Given the description of an element on the screen output the (x, y) to click on. 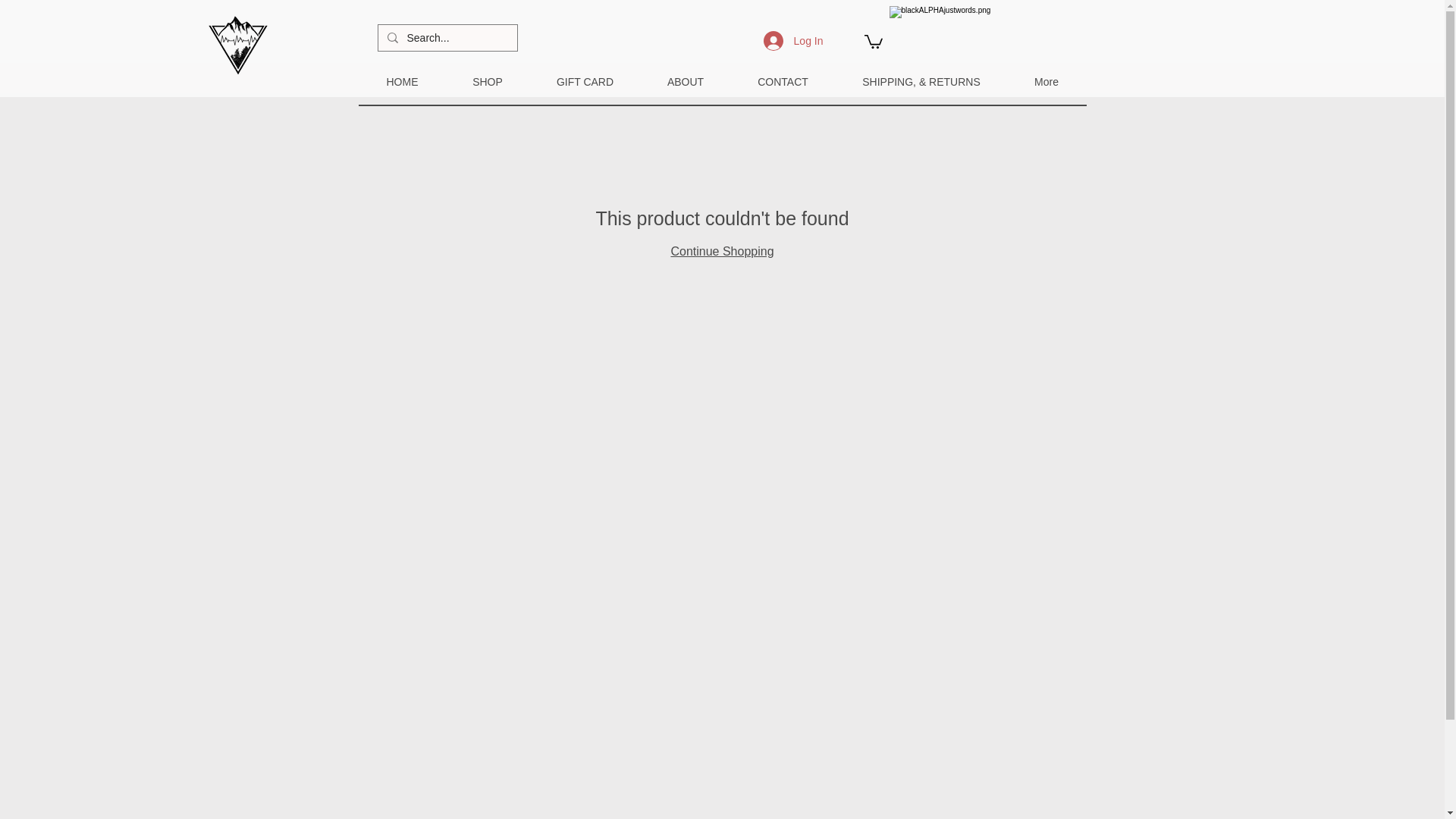
Continue Shopping (721, 250)
CONTACT (782, 82)
GIFT CARD (584, 82)
SHOP (487, 82)
ABOUT (685, 82)
HOME (402, 82)
Log In (793, 40)
